Given the description of an element on the screen output the (x, y) to click on. 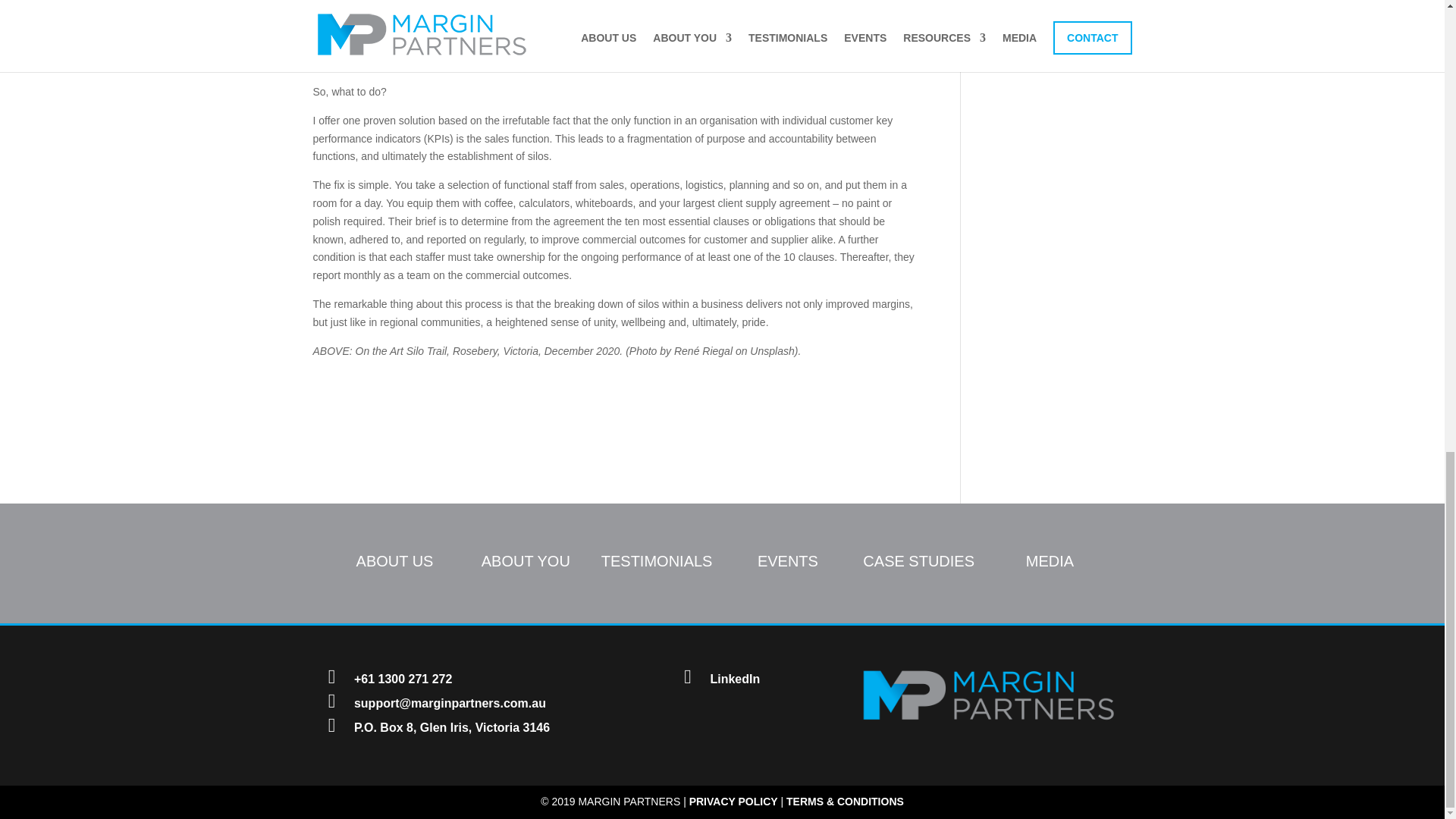
CASE STUDIES (918, 560)
ABOUT US (394, 560)
EVENTS (787, 560)
TESTIMONIALS (657, 560)
ABOUT YOU (525, 560)
MEDIA (1050, 560)
